Given the description of an element on the screen output the (x, y) to click on. 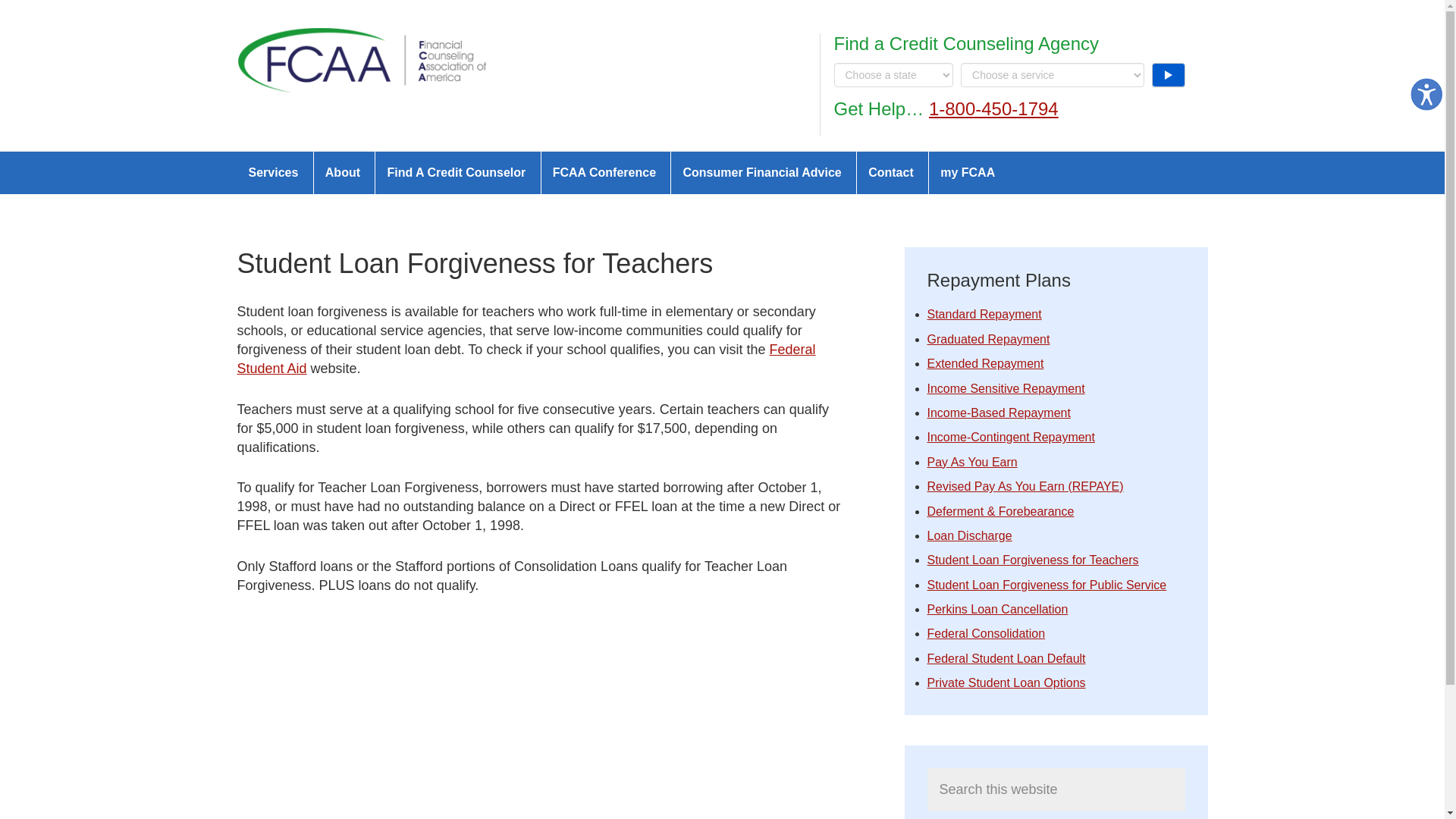
About (342, 172)
Services (271, 172)
1-800-450-1794 (993, 108)
GO (1168, 74)
FCAA (360, 60)
